Given the description of an element on the screen output the (x, y) to click on. 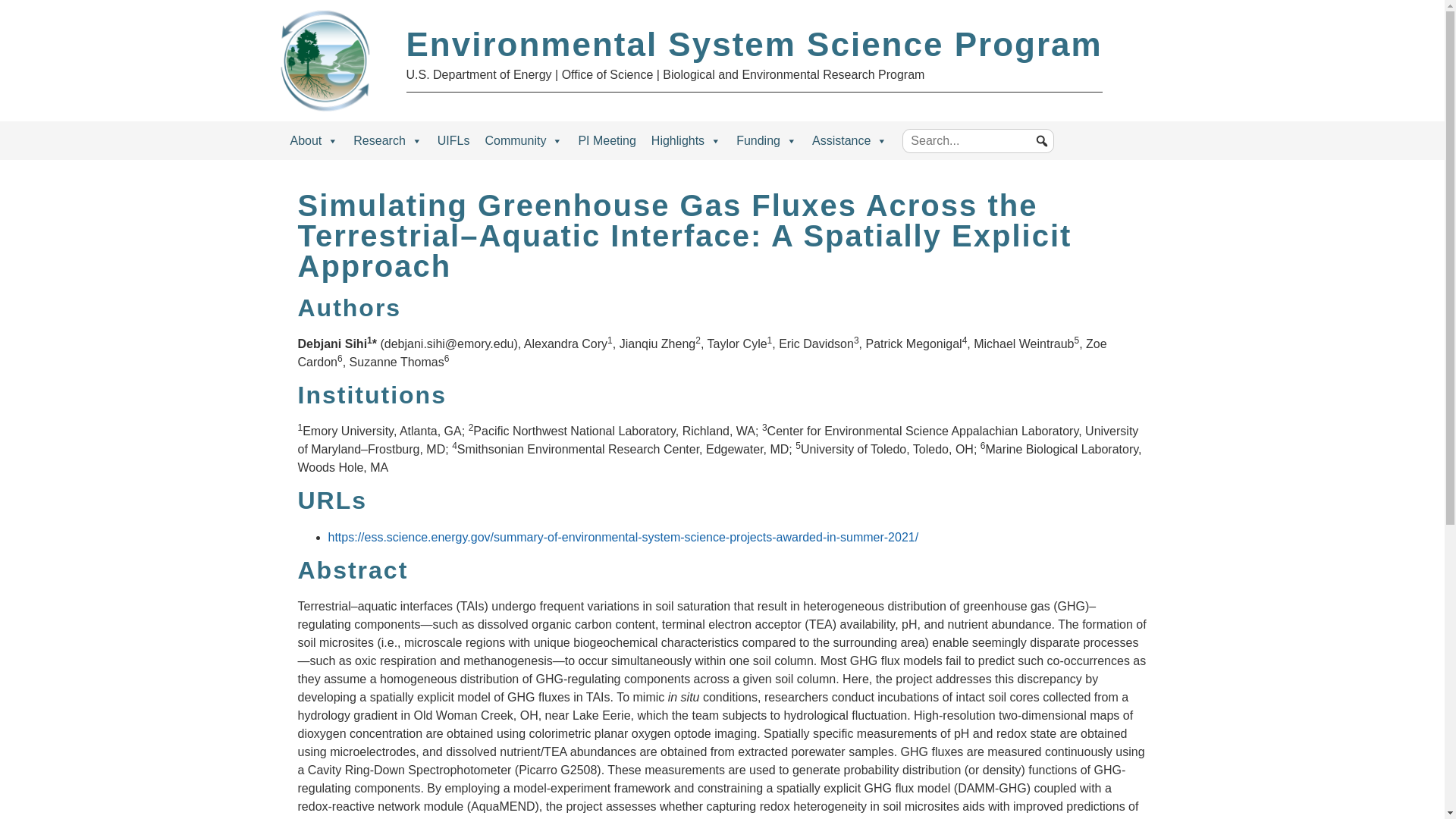
About (314, 140)
Research (387, 140)
